Given the description of an element on the screen output the (x, y) to click on. 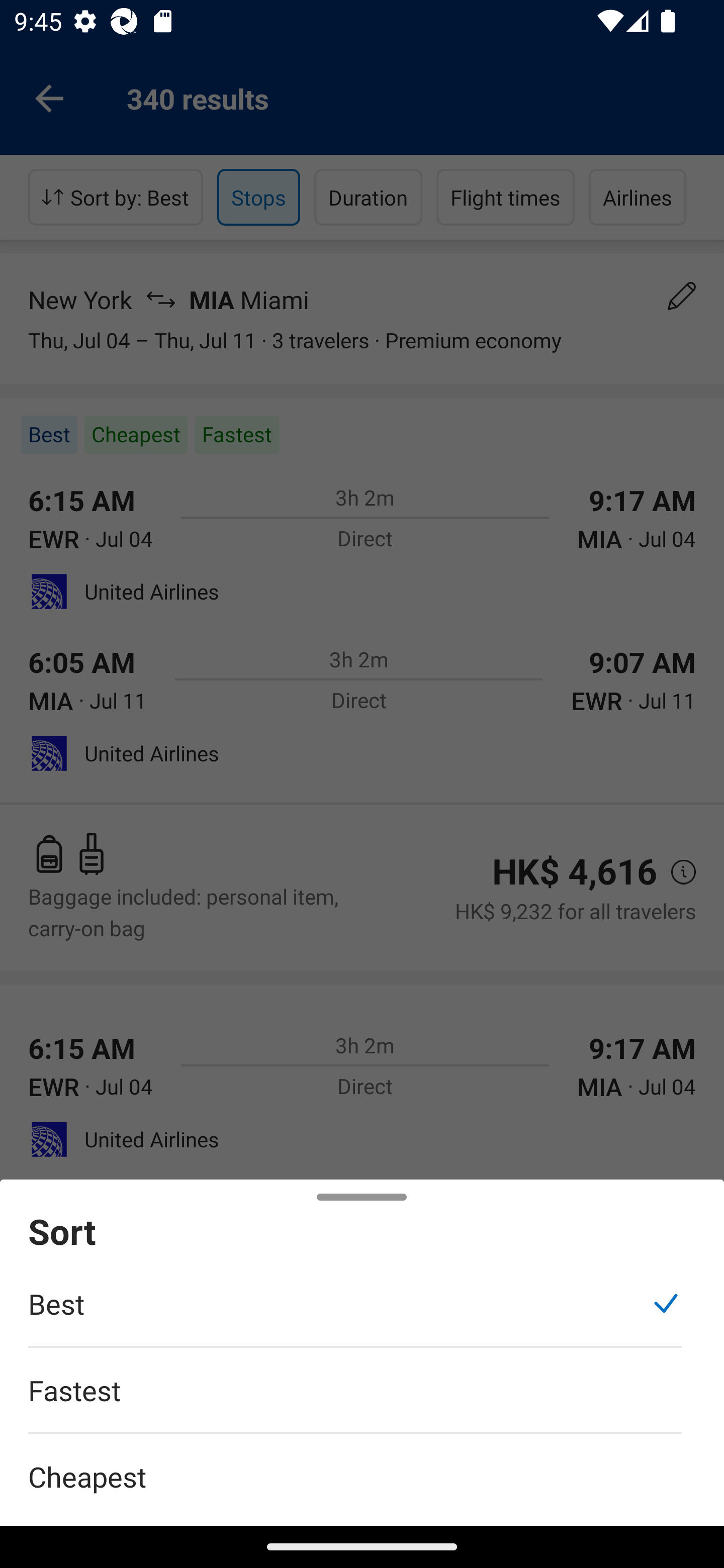
Best (355, 1313)
Fastest (355, 1399)
Cheapest (362, 1465)
